Given the description of an element on the screen output the (x, y) to click on. 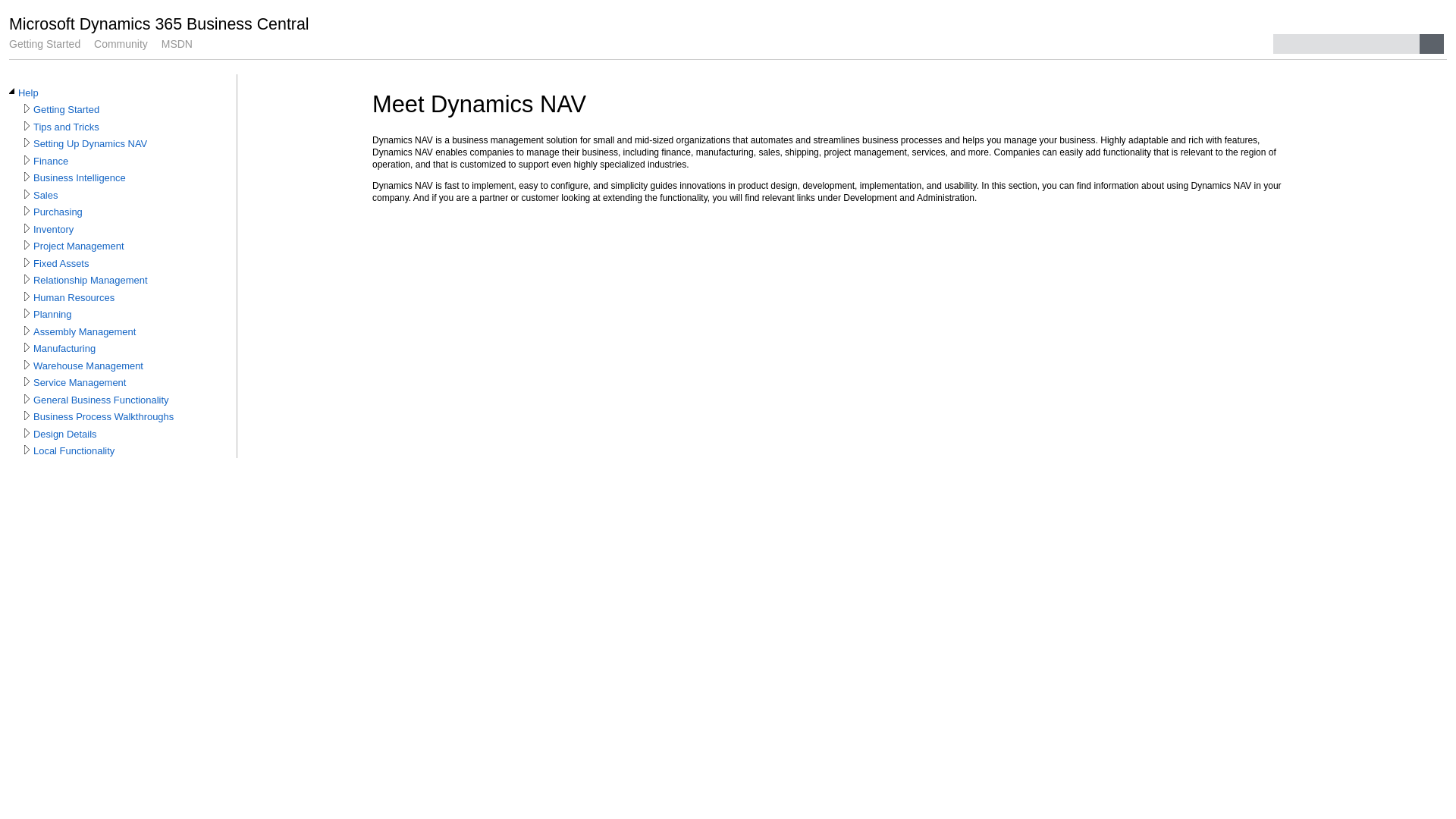
Expand Local Functionality Element type: hover (26, 449)
Human Resources Element type: text (73, 297)
Search Element type: hover (1431, 43)
Project Management Element type: text (78, 246)
Expand Business Process Walkthroughs Element type: hover (26, 415)
Help Element type: text (28, 93)
Expand Planning Element type: hover (26, 312)
Community Element type: text (120, 43)
Expand Finance Element type: hover (26, 159)
Manufacturing Element type: text (64, 348)
Setting Up Dynamics NAV Element type: text (90, 143)
Search Element type: hover (1346, 43)
Getting Started Element type: text (44, 43)
Expand Purchasing Element type: hover (26, 210)
Collapse Help Element type: hover (11, 91)
MSDN Element type: text (176, 43)
Finance Element type: text (50, 161)
Expand Sales Element type: hover (26, 193)
Getting Started Element type: text (66, 109)
Planning Element type: text (52, 314)
Expand Manufacturing Element type: hover (26, 346)
Business Process Walkthroughs Element type: text (103, 416)
Expand Getting Started Element type: hover (26, 107)
Expand Setting Up Dynamics NAV Element type: hover (26, 142)
Design Details Element type: text (65, 434)
Expand Design Details Element type: hover (26, 432)
Relationship Management Element type: text (90, 280)
Local Functionality Element type: text (73, 451)
Expand Project Management Element type: hover (26, 244)
Expand Inventory Element type: hover (26, 227)
Warehouse Management Element type: text (88, 366)
Expand Tips and Tricks Element type: hover (26, 125)
Service Management Element type: text (79, 382)
Expand Business Intelligence Element type: hover (26, 176)
Expand Relationship Management Element type: hover (26, 278)
Expand Fixed Assets Element type: hover (26, 261)
Tips and Tricks Element type: text (66, 127)
Business Intelligence Element type: text (79, 178)
Assembly Management Element type: text (84, 331)
Fixed Assets Element type: text (60, 263)
Expand Warehouse Management Element type: hover (26, 364)
Expand Service Management Element type: hover (26, 380)
Expand General Business Functionality Element type: hover (26, 398)
Sales Element type: text (45, 195)
Purchasing Element type: text (57, 212)
Inventory Element type: text (53, 229)
Expand Assembly Management Element type: hover (26, 330)
General Business Functionality Element type: text (101, 400)
Expand Human Resources Element type: hover (26, 296)
